Given the description of an element on the screen output the (x, y) to click on. 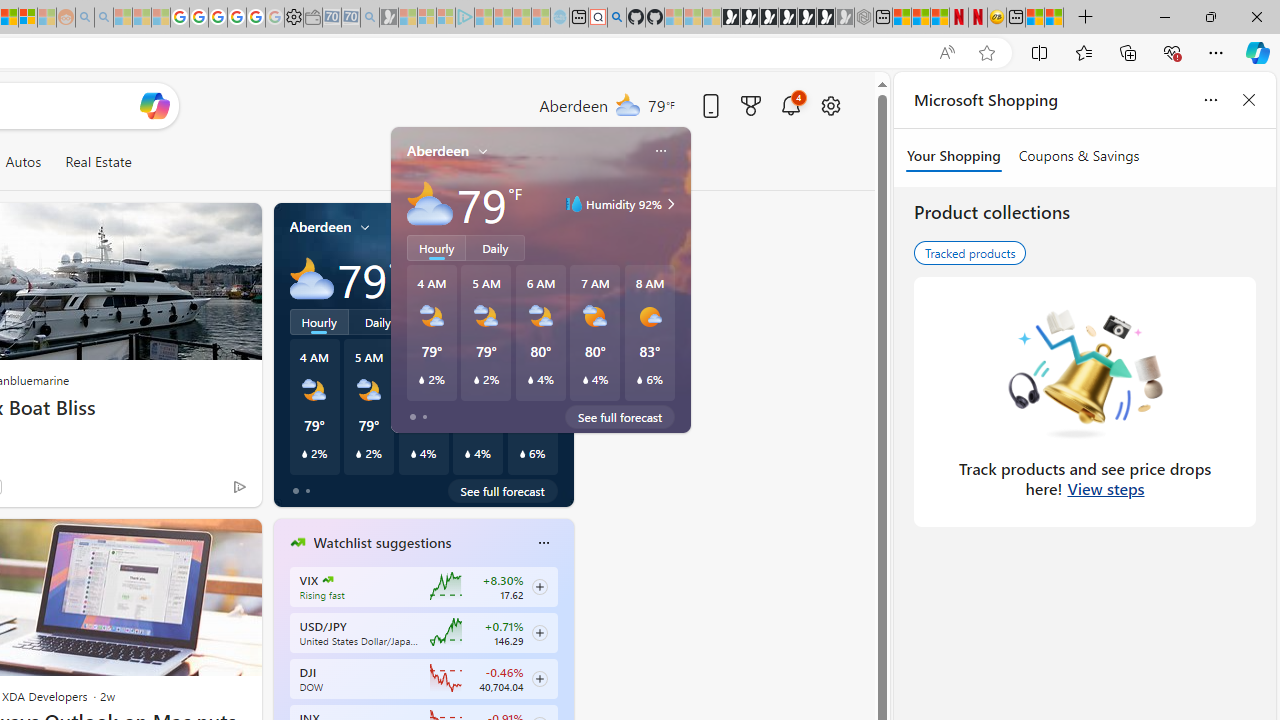
Aberdeen (320, 227)
previous (283, 670)
Class: weather-arrow-glyph (554, 278)
